Given the description of an element on the screen output the (x, y) to click on. 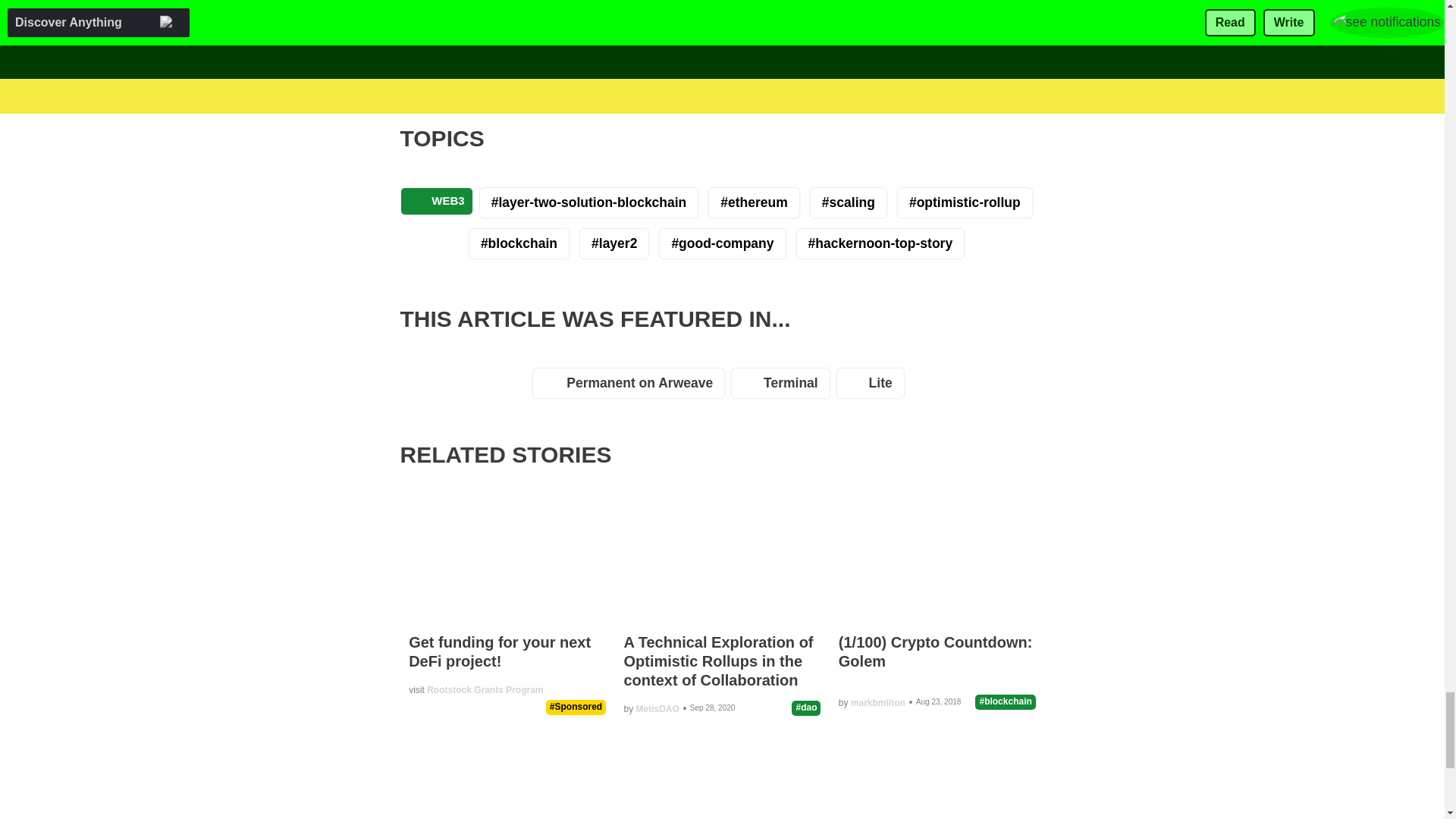
WEB3 (436, 201)
Read My Stories (584, 47)
